Given the description of an element on the screen output the (x, y) to click on. 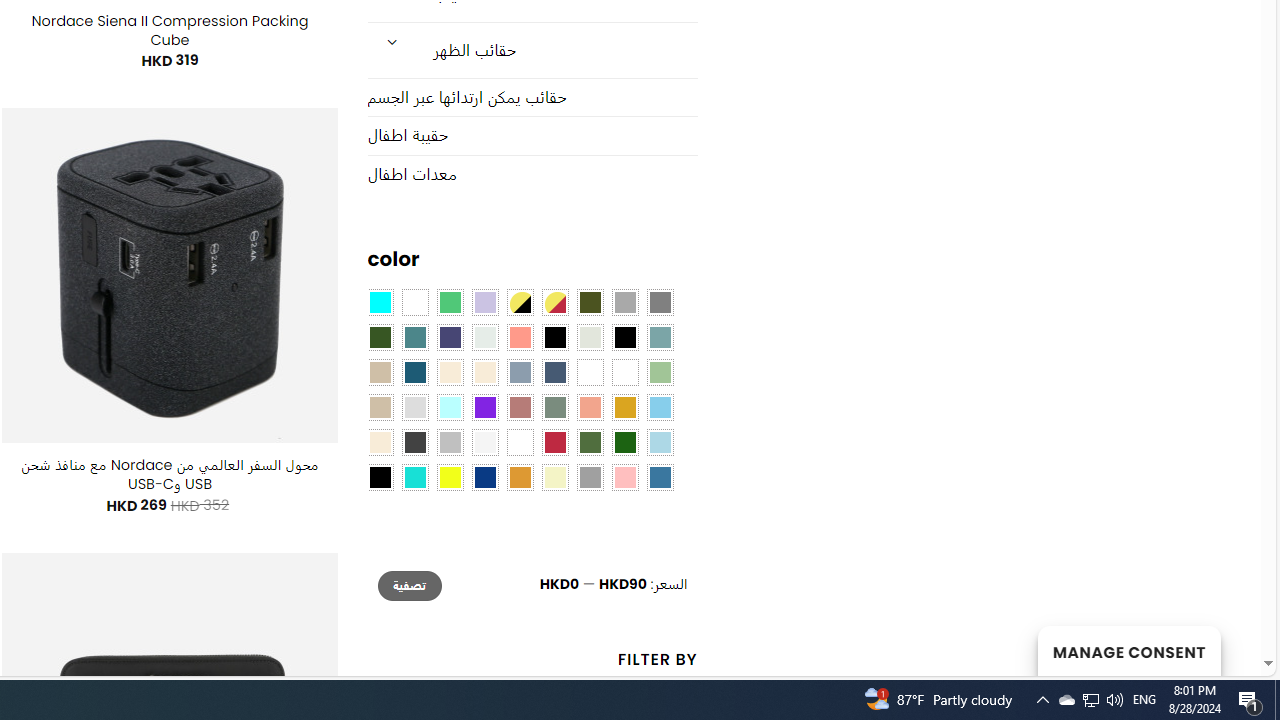
Khaki (624, 372)
Caramel (449, 372)
Purple (484, 408)
Dull Nickle (484, 337)
Light-Gray (414, 408)
Nordace Siena II Compression Packing Cube (169, 29)
Forest (379, 337)
Sage (554, 408)
Aqua Blue (379, 303)
